Given the description of an element on the screen output the (x, y) to click on. 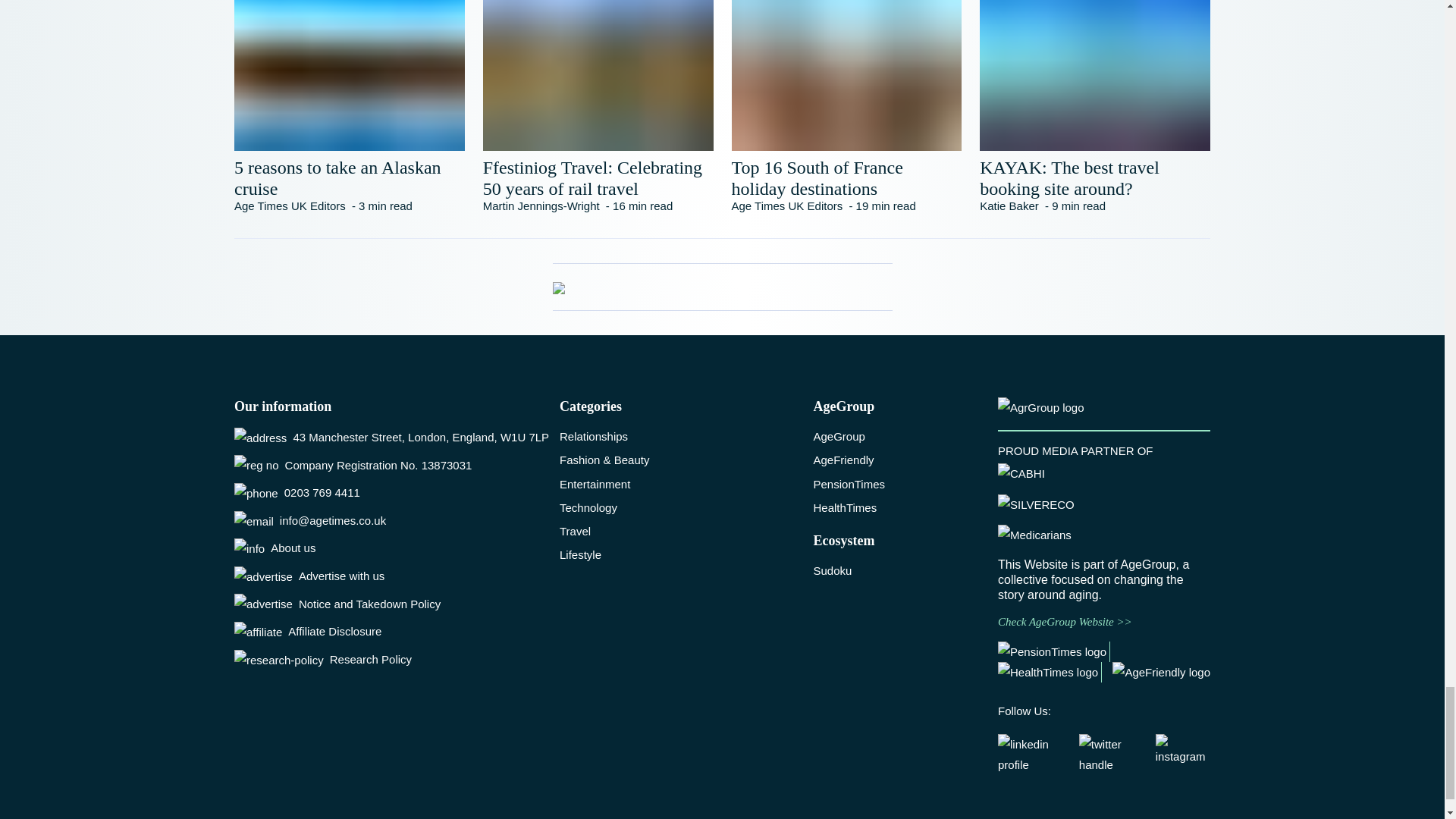
5 reasons to take an Alaskan cruise (349, 178)
Top 16 South of France holiday destinations (845, 178)
Ffestiniog Travel: Celebrating 50 years of rail travel (598, 178)
Top 16 South of France holiday destinations (845, 178)
KAYAK: The best travel booking site around? (1094, 178)
KAYAK: The best travel booking site around? (1094, 178)
Age Times UK Editors (786, 205)
Age Times UK Editors (290, 205)
Martin Jennings-Wright (541, 205)
Ffestiniog Travel: Celebrating 50 years of rail travel (598, 178)
